Given the description of an element on the screen output the (x, y) to click on. 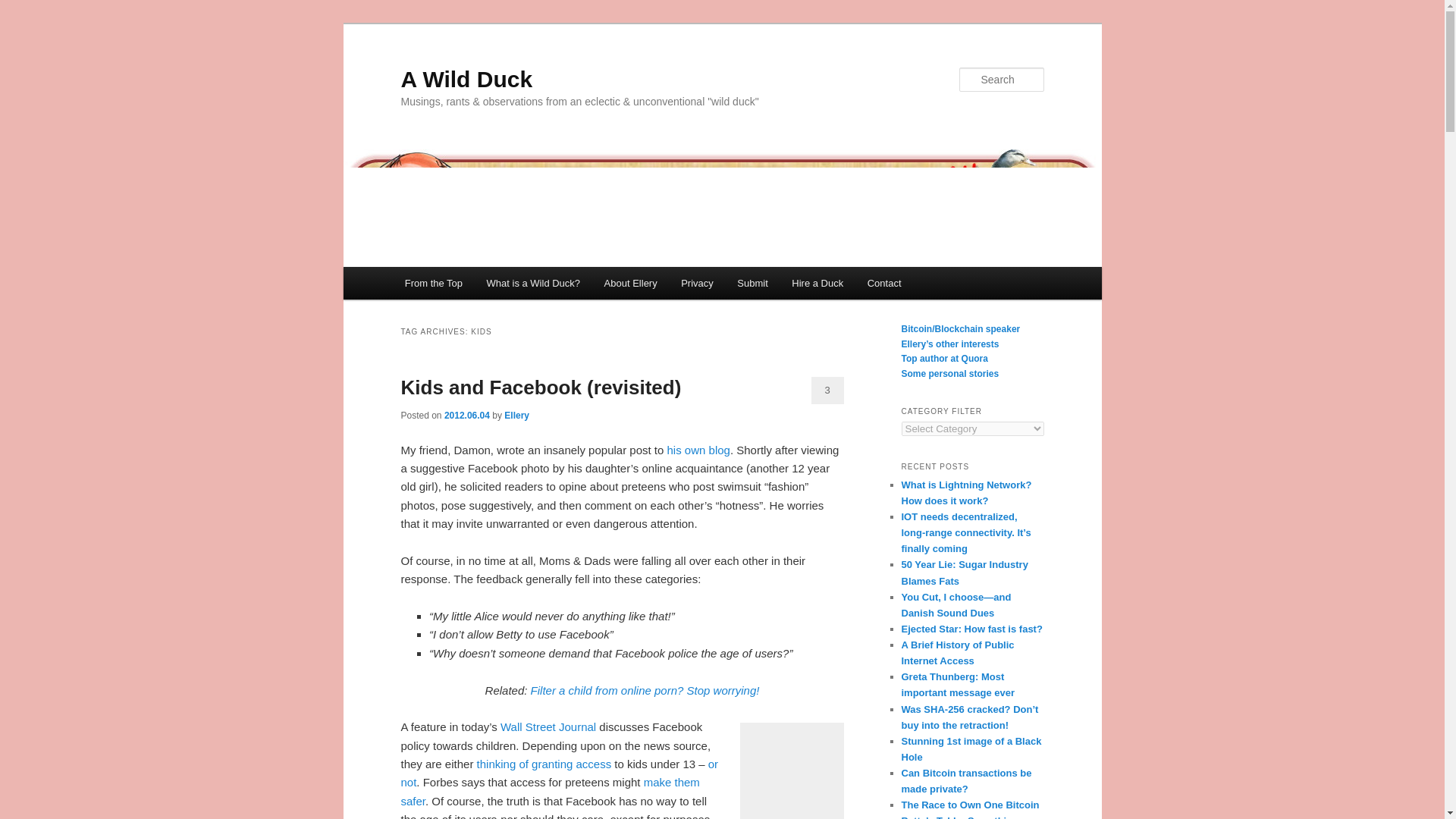
Filter a child from online porn? Stop worrying (645, 689)
2012.06.04 (466, 415)
Filter a child from online porn? Stop worrying! (645, 689)
Damon-Face-2 (790, 774)
From the Top (433, 282)
What is a Wild Duck? (533, 282)
Ellery (516, 415)
A Wild Duck (466, 78)
See May 26 post (696, 449)
